Given the description of an element on the screen output the (x, y) to click on. 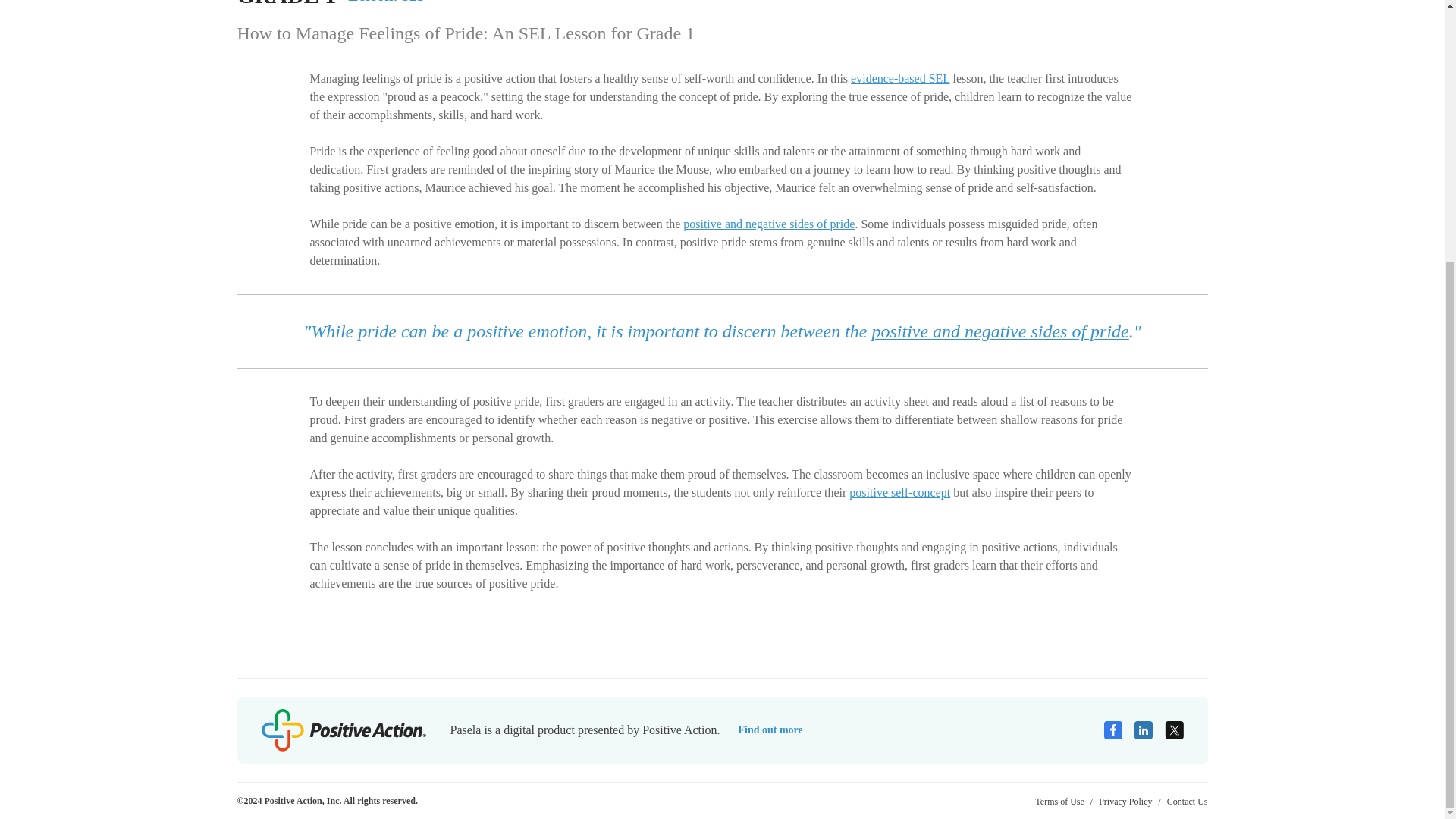
Contact Us (1187, 801)
positive and negative sides of pride (999, 331)
evidence-based SEL (899, 78)
positive self-concept (899, 492)
positive and negative sides of pride (768, 223)
Find out more (770, 729)
